Given the description of an element on the screen output the (x, y) to click on. 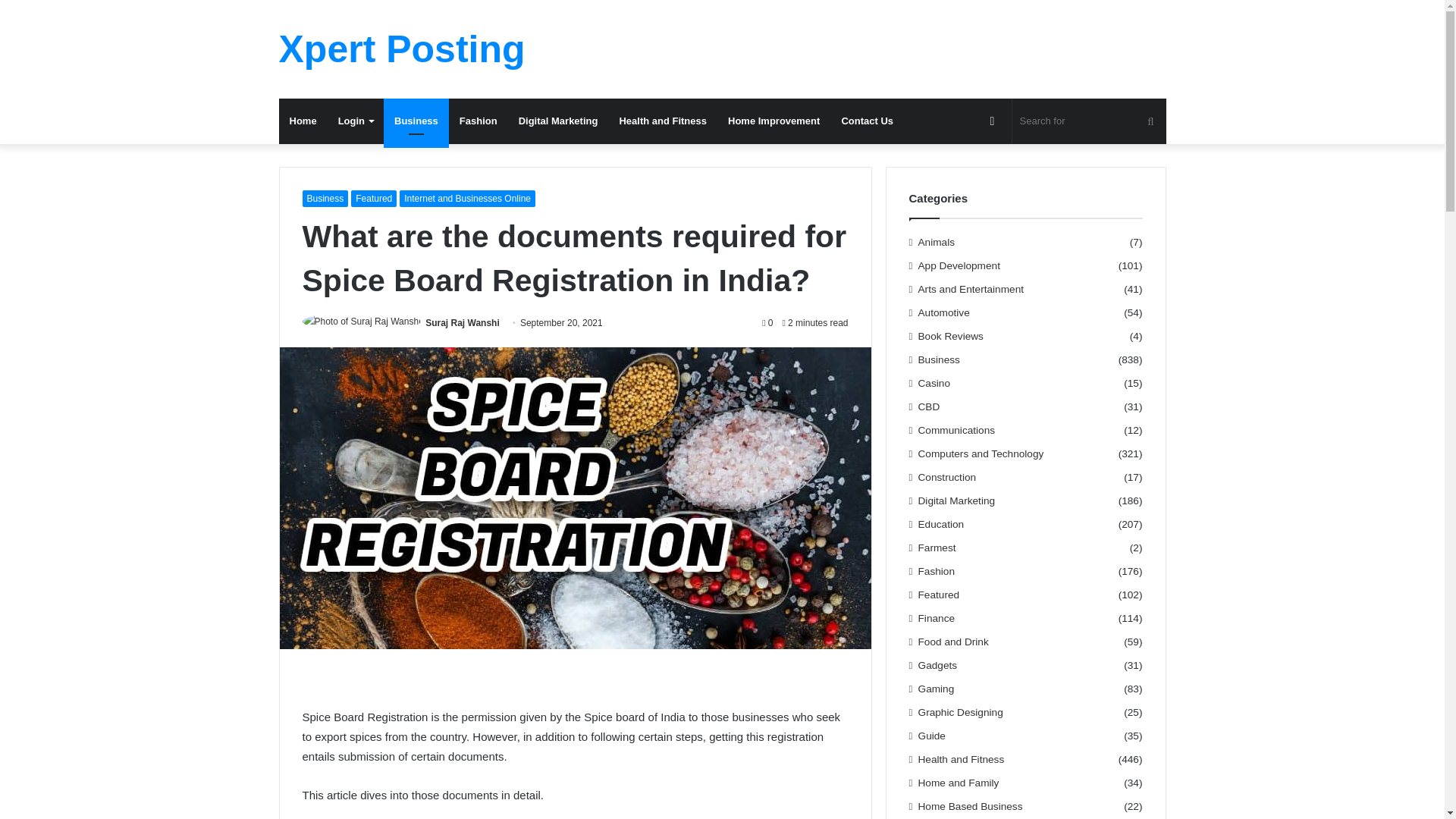
Search for (1088, 121)
Featured (373, 198)
Internet and Businesses Online (466, 198)
Home Improvement (773, 121)
Suraj Raj Wanshi (462, 322)
Xpert Posting (402, 48)
Xpert Posting (402, 48)
Business (416, 121)
Login (355, 121)
Fashion (478, 121)
